Given the description of an element on the screen output the (x, y) to click on. 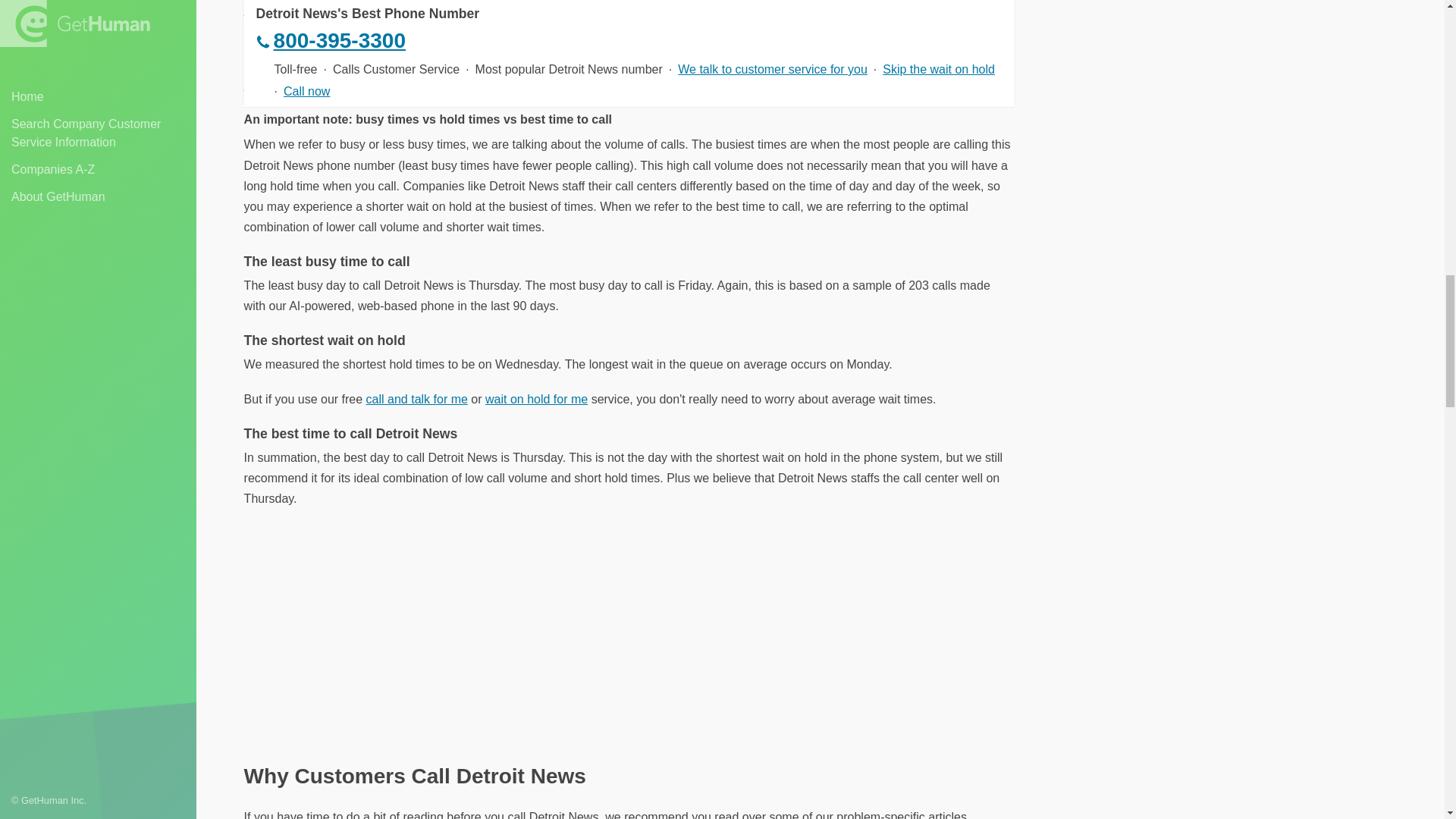
Automatically call when they open (352, 1)
Learn about scheduling a call (322, 84)
wait on hold for me (536, 399)
call and talk for me (416, 399)
